Given the description of an element on the screen output the (x, y) to click on. 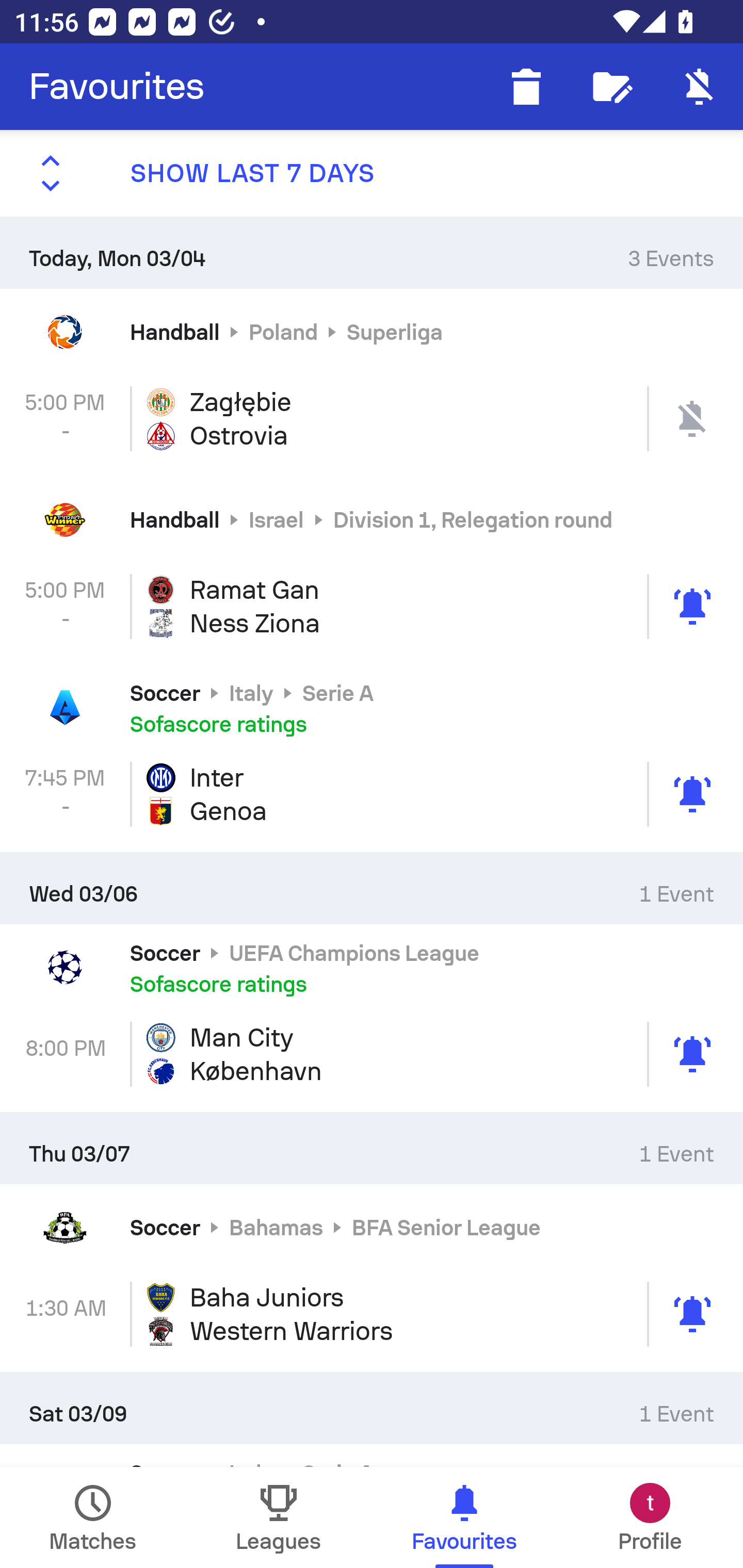
Favourites (116, 86)
Delete finished (525, 86)
Follow editor (612, 86)
Enable notifications (699, 86)
SHOW LAST 7 DAYS (371, 173)
Today, Mon 03/04 3 Events (371, 252)
Handball Poland Superliga (371, 331)
5:00 PM - Zagłębie Ostrovia (371, 418)
Handball Israel Division 1, Relegation round (371, 519)
5:00 PM - Ramat Gan Ness Ziona (371, 605)
Soccer Italy Serie A Sofascore ratings (371, 707)
7:45 PM - Inter Genoa (371, 794)
Wed 03/06 1 Event (371, 887)
Soccer UEFA Champions League Sofascore ratings (371, 967)
8:00 PM Man City København (371, 1054)
Thu 03/07 1 Event (371, 1147)
Soccer Bahamas BFA Senior League (371, 1227)
1:30 AM Baha Juniors Western Warriors (371, 1314)
Sat 03/09 1 Event (371, 1408)
Matches (92, 1517)
Leagues (278, 1517)
Profile (650, 1517)
